Given the description of an element on the screen output the (x, y) to click on. 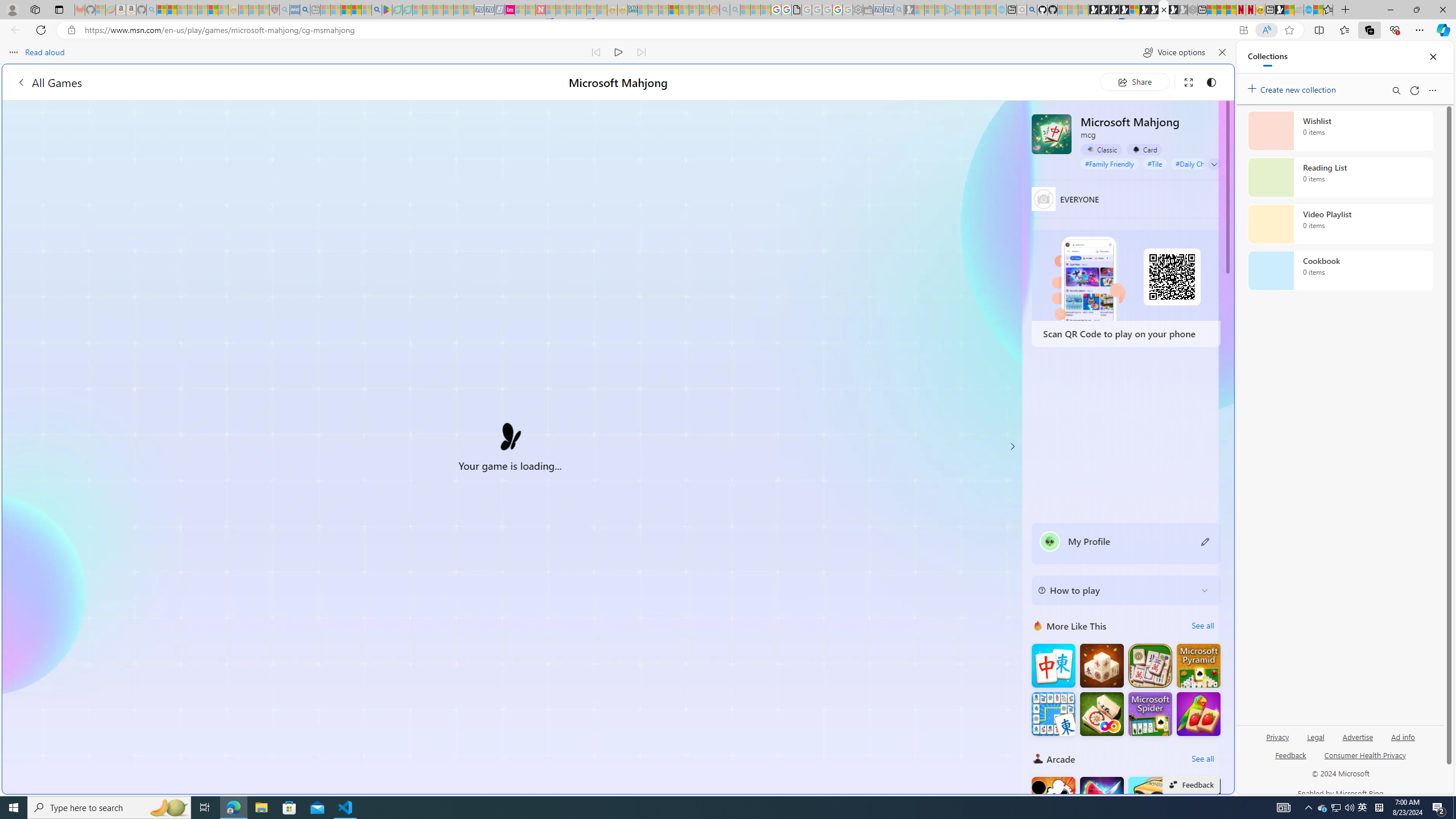
DITOGAMES AG Imprint (632, 9)
Microsoft Pyramid Solitaire (1198, 665)
Privacy (1278, 736)
google_privacy_policy_zh-CN.pdf (1118, 683)
Wallet - Sleeping (867, 9)
Continue to read aloud (Ctrl+Shift+U) (618, 52)
More Like This (1037, 625)
google_privacy_policy_zh-CN.pdf (796, 9)
All Games (216, 81)
Advertise (1358, 741)
google - Search (376, 9)
